Given the description of an element on the screen output the (x, y) to click on. 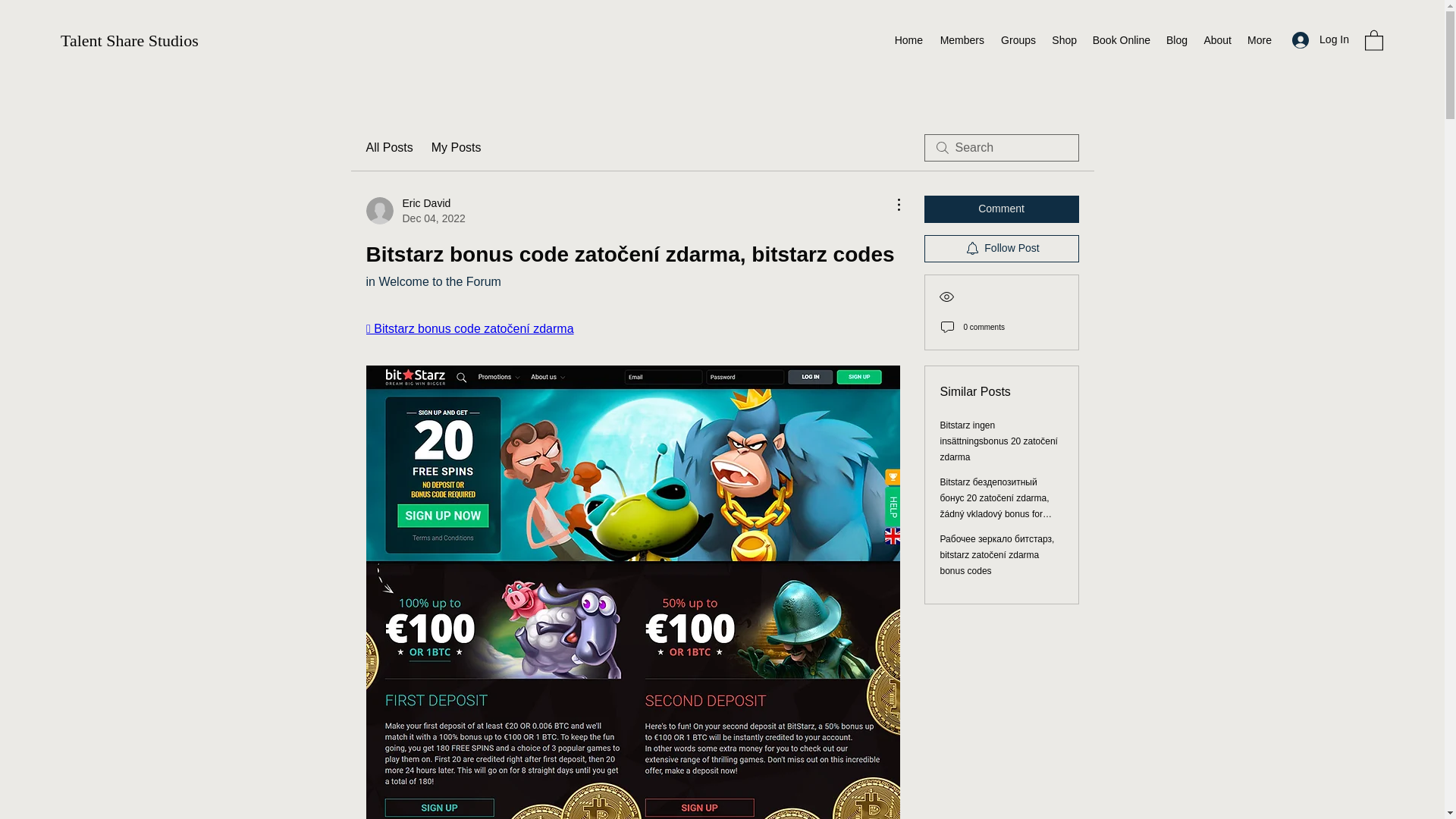
My Posts (455, 147)
Book Online (1120, 39)
Follow Post (414, 210)
Home (1000, 248)
Log In (908, 39)
in Welcome to the Forum (1320, 39)
All Posts (432, 281)
Shop (388, 147)
Comment (1063, 39)
Talent Share Studios (1000, 208)
Blog (129, 40)
About (1176, 39)
Members (1217, 39)
Groups (960, 39)
